Given the description of an element on the screen output the (x, y) to click on. 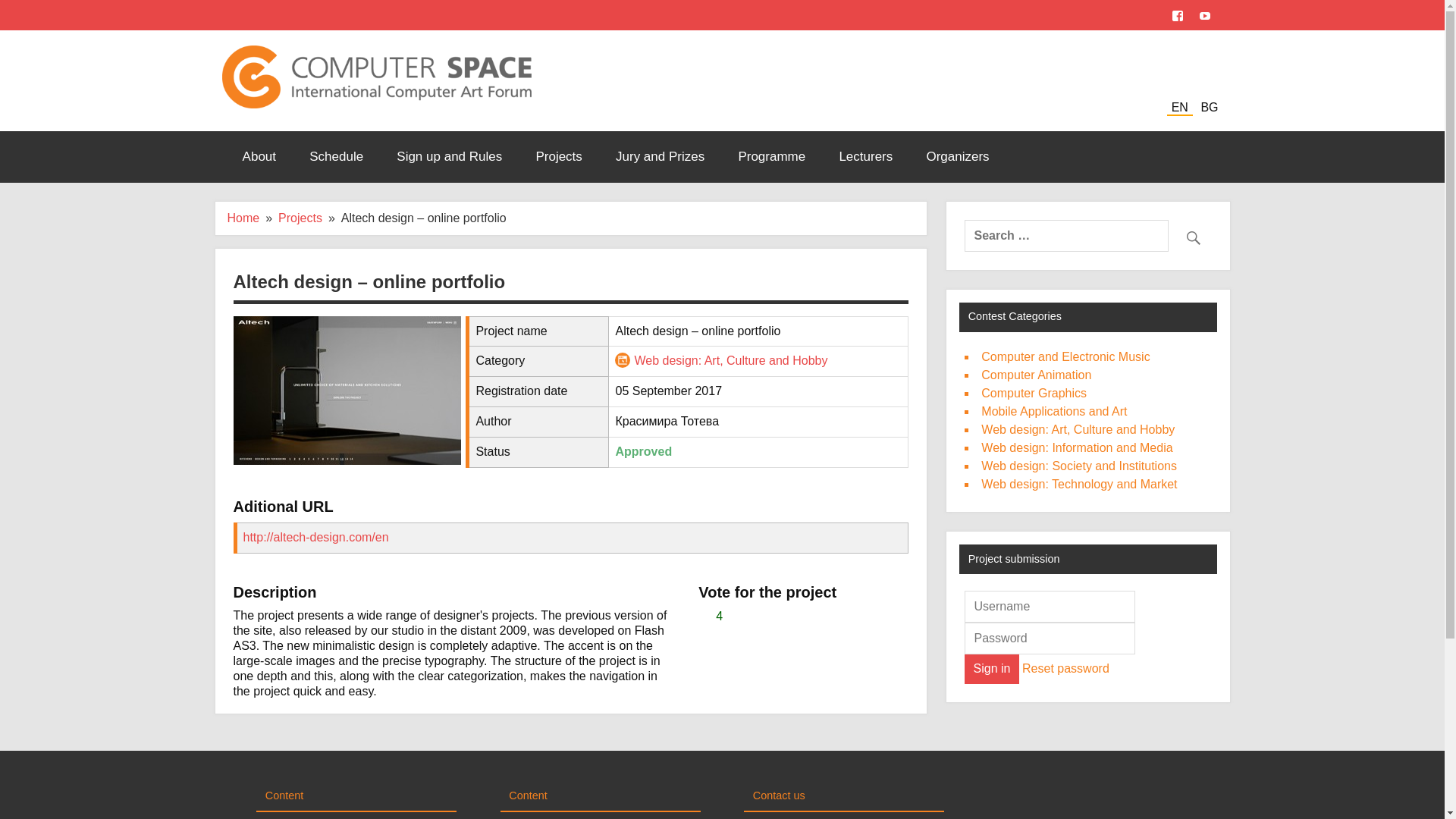
Sign in (990, 668)
About (259, 156)
Web design: Art, Culture and Hobby (730, 359)
English (1179, 108)
Home (243, 217)
BG (1209, 107)
EN (1179, 108)
Projects (299, 217)
Projects (558, 156)
Computer Animation (1035, 374)
Computer Space (376, 51)
Lecturers (865, 156)
Schedule (336, 156)
Jury and Prizes (659, 156)
Sign up and Rules (449, 156)
